Given the description of an element on the screen output the (x, y) to click on. 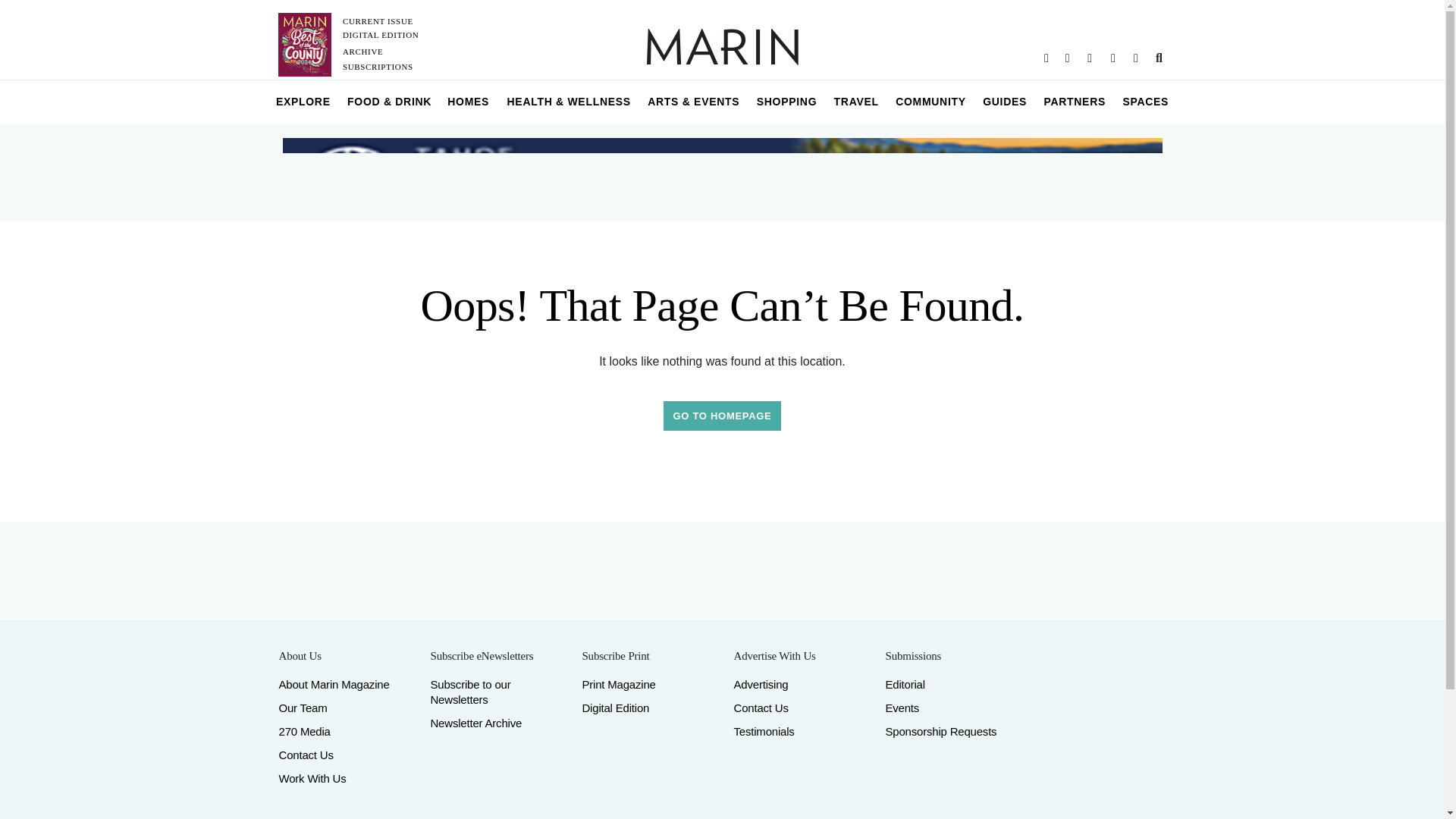
ARCHIVE (362, 51)
EXPLORE (303, 102)
CURRENT ISSUE (377, 20)
SUBSCRIPTIONS (377, 66)
DIGITAL EDITION (380, 34)
HOMES (468, 102)
